Given the description of an element on the screen output the (x, y) to click on. 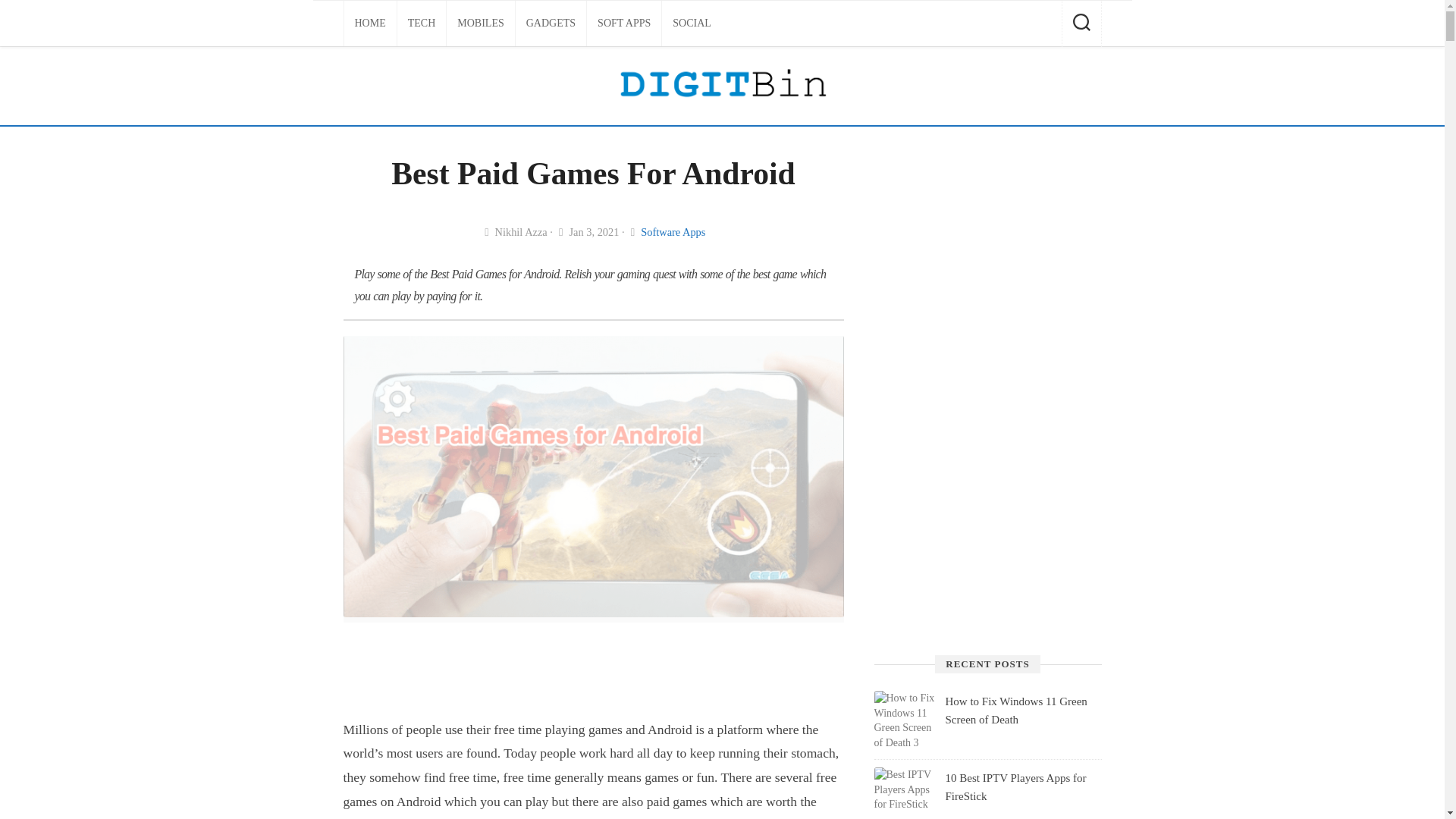
SOFT APPS (623, 23)
HOME (370, 23)
Software Apps (672, 232)
GADGETS (550, 23)
SOCIAL (691, 23)
MOBILES (480, 23)
TECH (421, 23)
